Given the description of an element on the screen output the (x, y) to click on. 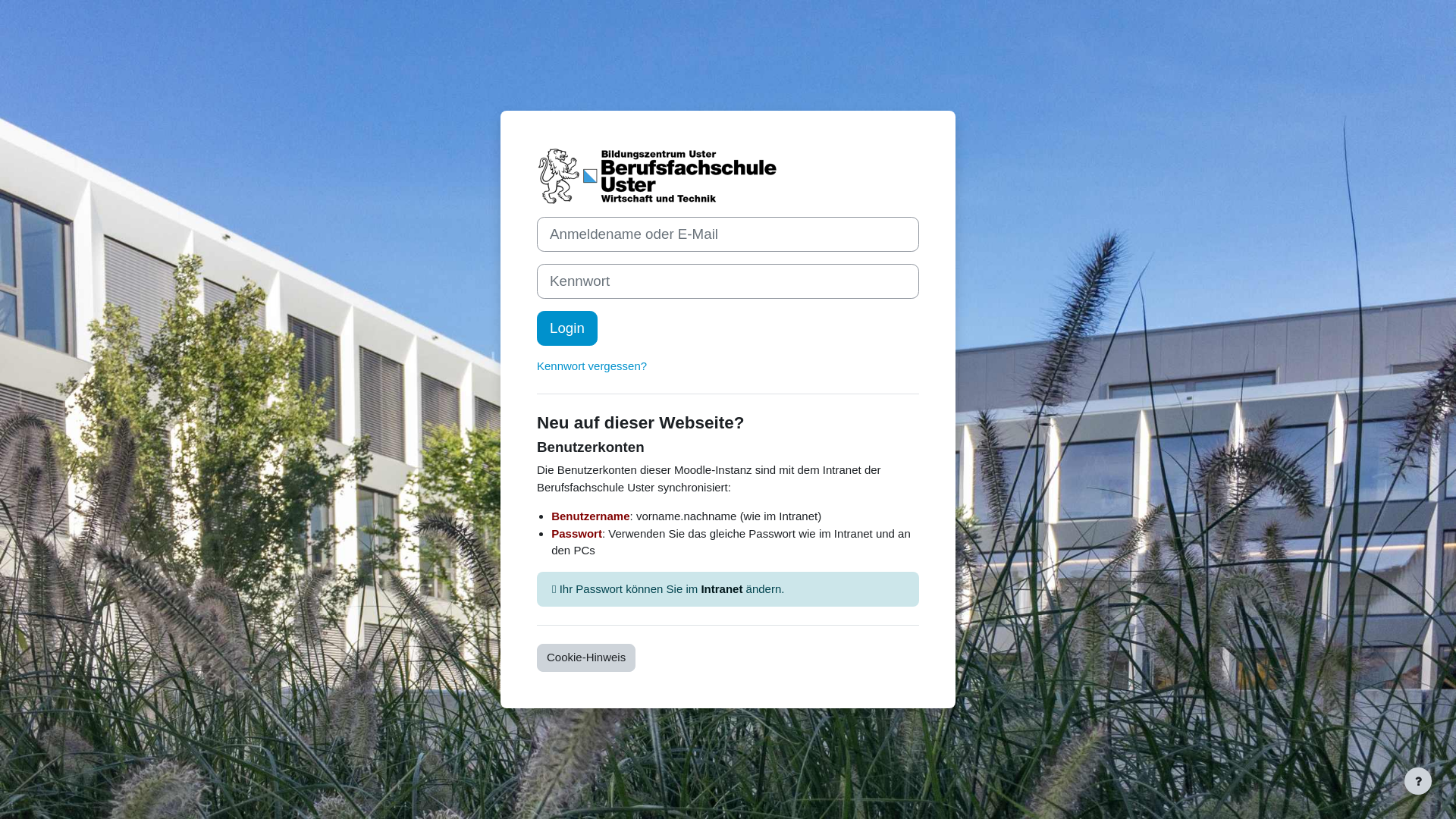
Intranet Element type: text (721, 588)
Login Element type: text (566, 327)
Cookie-Hinweis Element type: text (585, 657)
Kennwort vergessen? Element type: text (591, 365)
